Given the description of an element on the screen output the (x, y) to click on. 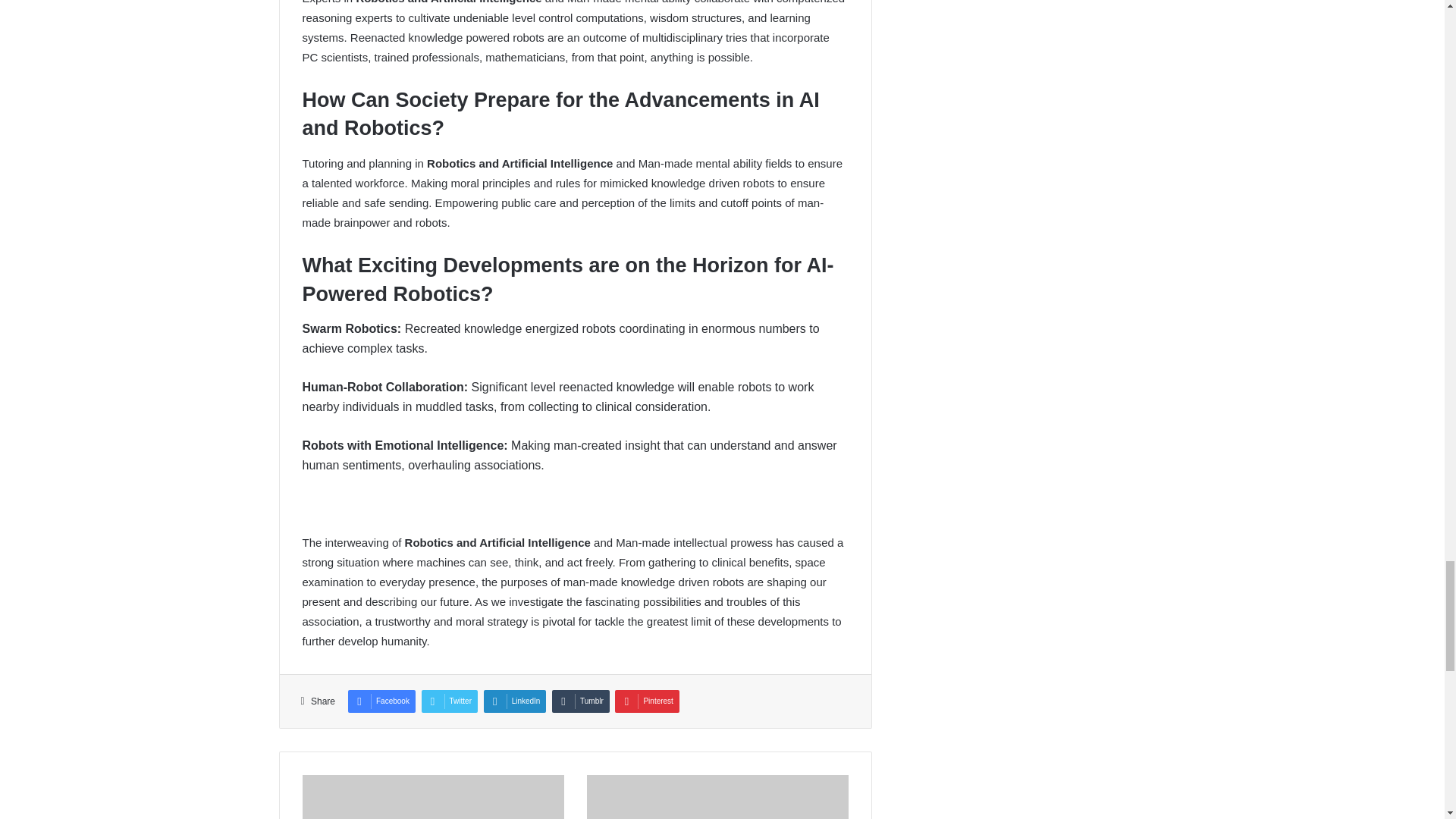
Facebook (380, 701)
Facebook (380, 701)
Twitter (449, 701)
LinkedIn (515, 701)
